Given the description of an element on the screen output the (x, y) to click on. 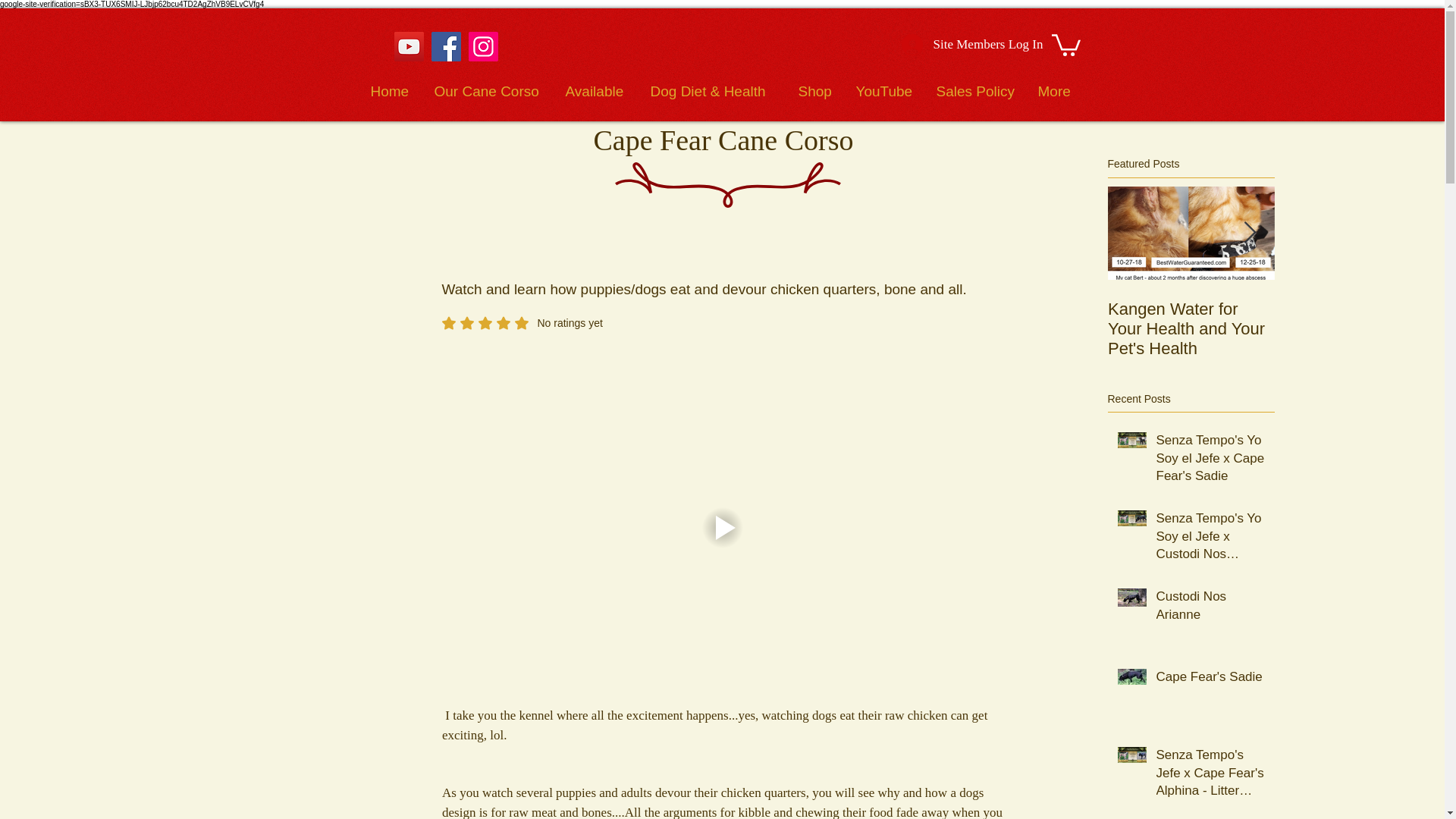
YouTube (521, 323)
Site Members Log In (884, 91)
Custodi Nos Arianne (972, 43)
Cape Fear's Sadie (1210, 608)
Home (1210, 680)
Kangen Water for Your Health and Your Pet's Health (391, 91)
Sales Policy (1190, 327)
The Correlation between Dry dog food and Cancer. (975, 91)
Senza Tempo's Yo Soy el Jefe x Cape Fear's Sadie (1357, 327)
